Given the description of an element on the screen output the (x, y) to click on. 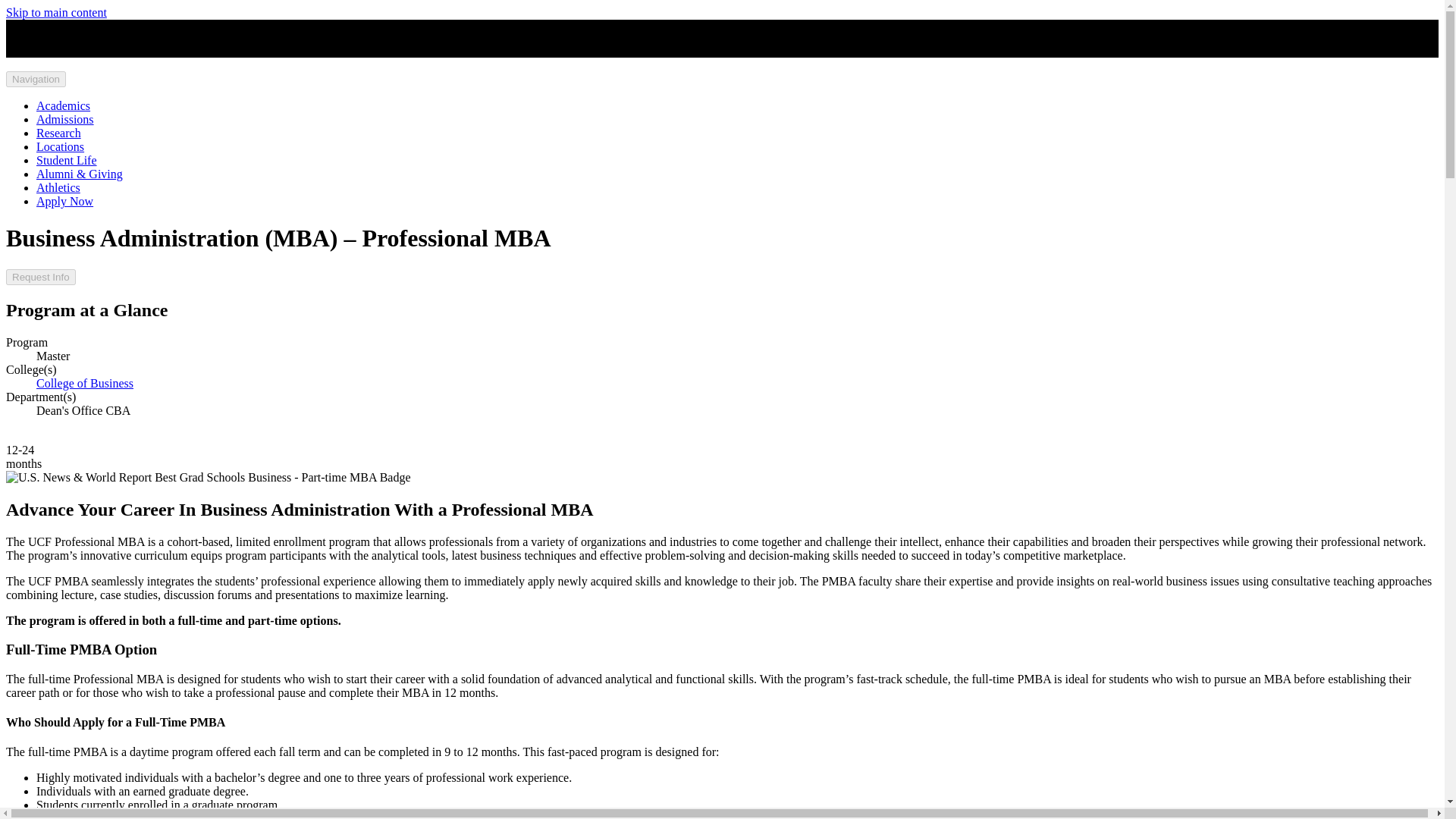
Locations (60, 146)
Skip to main content (55, 11)
Student Life (66, 160)
Athletics (58, 187)
Apply Now (64, 201)
Academics (63, 105)
College of Business (84, 382)
Navigation (35, 78)
Request Info (40, 277)
Research (58, 132)
